Given the description of an element on the screen output the (x, y) to click on. 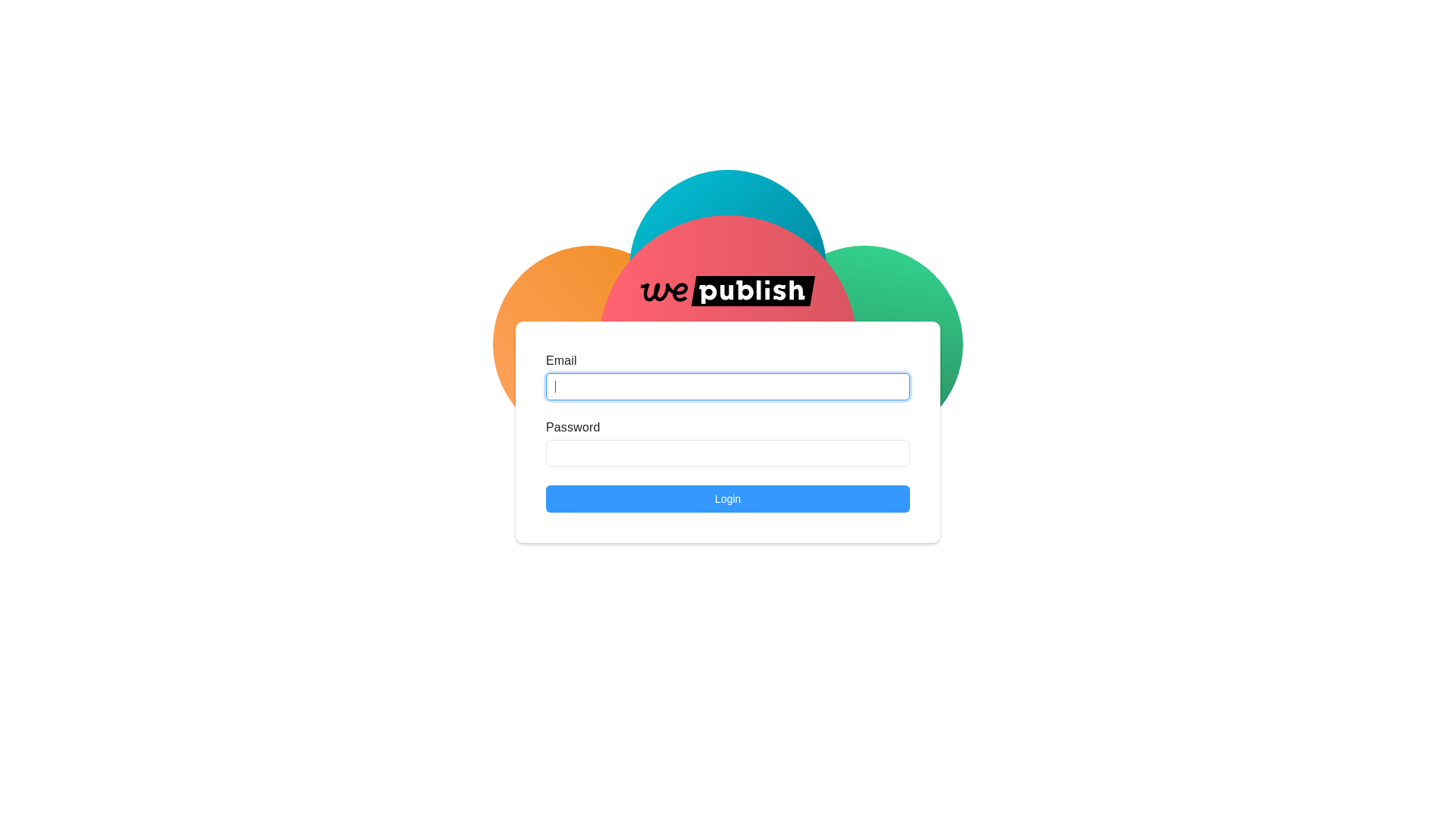
Login Element type: text (728, 498)
